Given the description of an element on the screen output the (x, y) to click on. 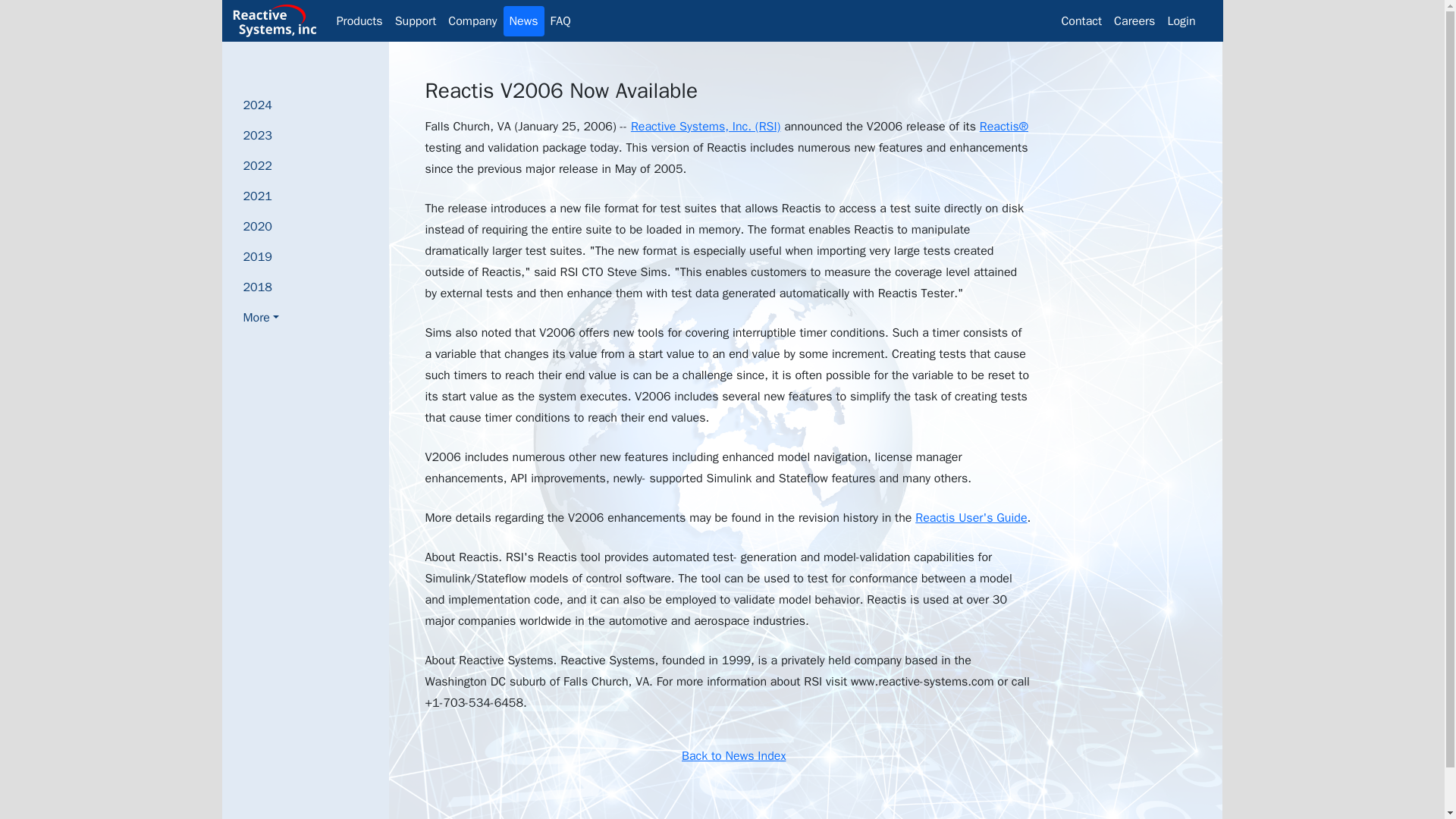
News (523, 20)
FAQ (560, 20)
2024 (260, 105)
2023 (260, 135)
Company (472, 20)
Support (415, 20)
Careers (1134, 20)
More (260, 317)
Contact (1081, 20)
2020 (260, 226)
2021 (260, 195)
Login (1180, 20)
Products (359, 20)
2019 (260, 256)
2022 (260, 165)
